Given the description of an element on the screen output the (x, y) to click on. 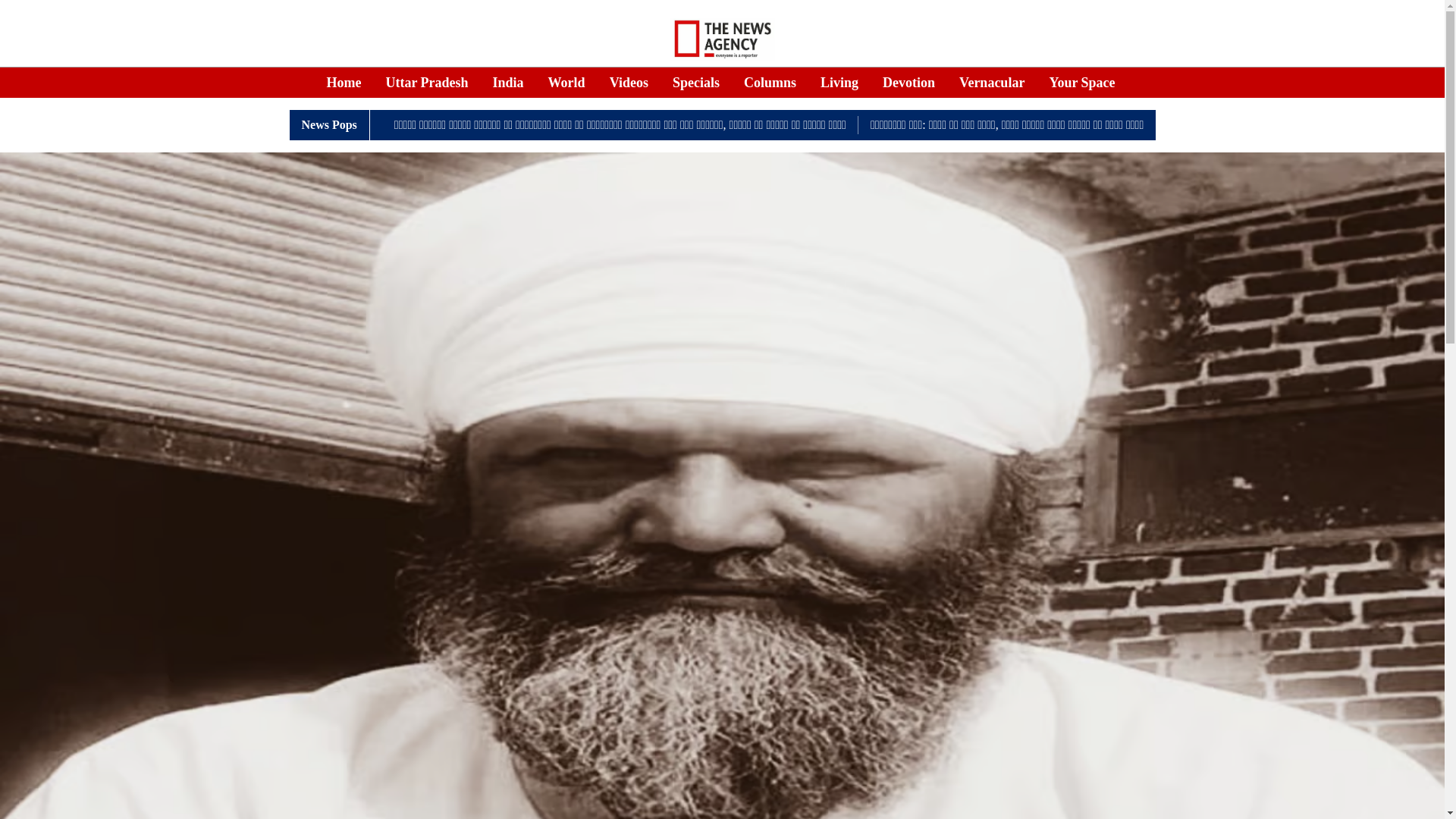
Living (840, 82)
India (508, 82)
Videos (628, 82)
Columns (770, 82)
Uttar Pradesh (426, 82)
Your Space (1081, 82)
World (566, 82)
Vernacular (992, 82)
Specials (695, 82)
Home (343, 82)
Devotion (908, 82)
